Given the description of an element on the screen output the (x, y) to click on. 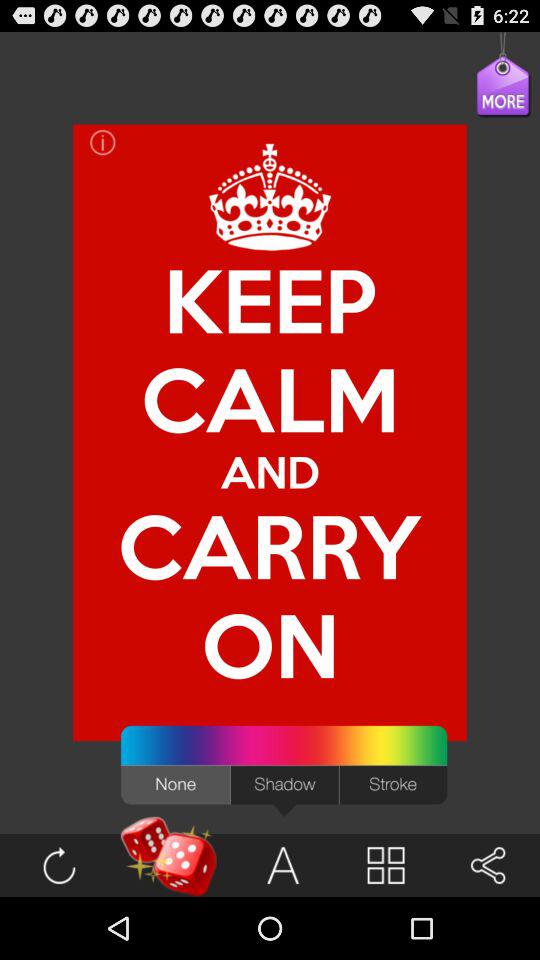
click item below the keep icon (269, 471)
